Given the description of an element on the screen output the (x, y) to click on. 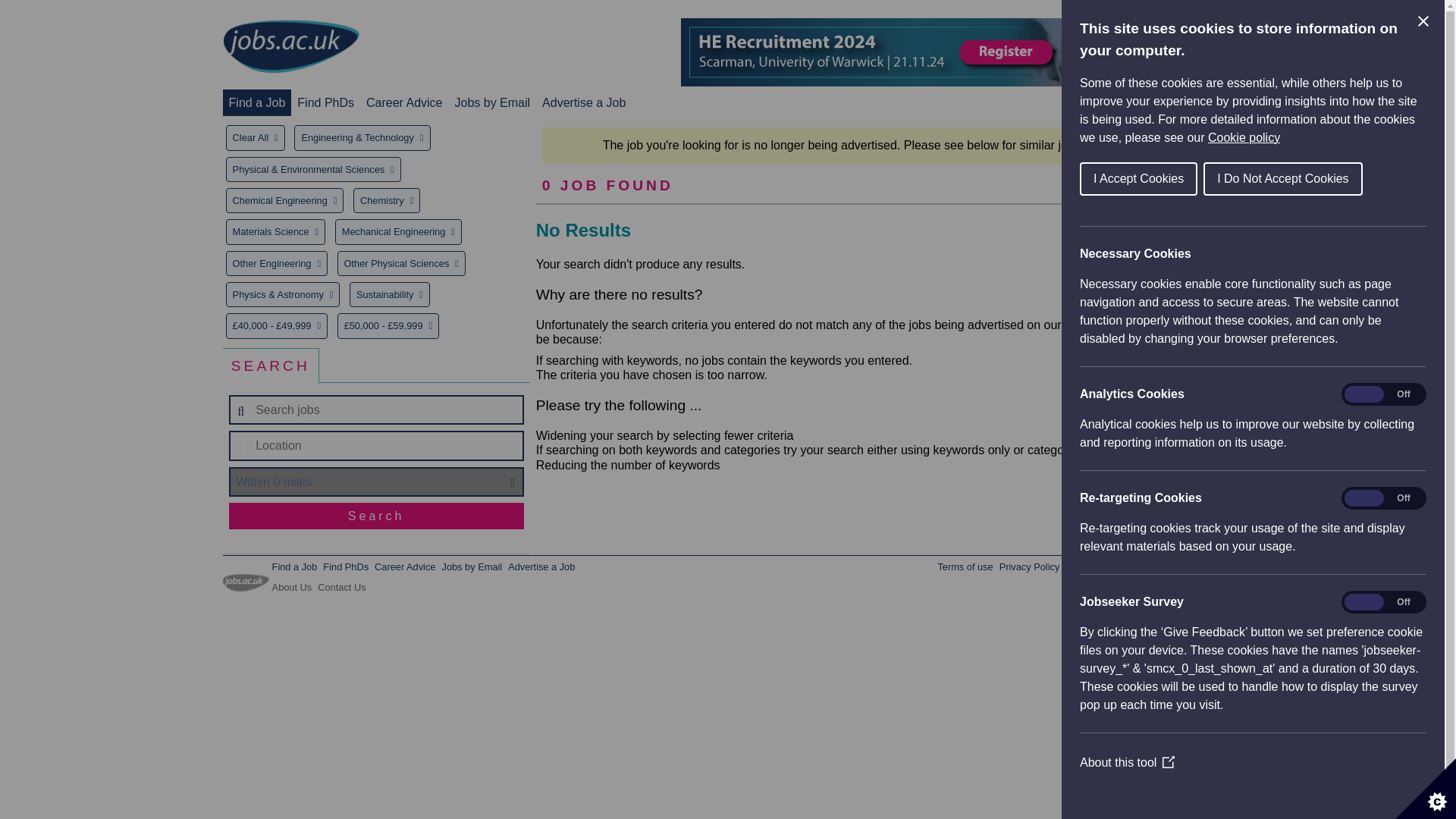
Recruiters (1199, 102)
Search (376, 515)
Your Account (1117, 102)
distance (376, 481)
I Accept Cookies (1337, 178)
Advertise a Job (541, 566)
Find a Job (294, 566)
Search (376, 515)
Career Advice (404, 566)
HE RECRUITMENT 2024 (957, 52)
jobs.ac.uk - Great jobs for bright people (290, 45)
Find PhDs (325, 102)
Jobs by Email (471, 566)
Find PhDs (345, 566)
Career Advice (404, 102)
